Given the description of an element on the screen output the (x, y) to click on. 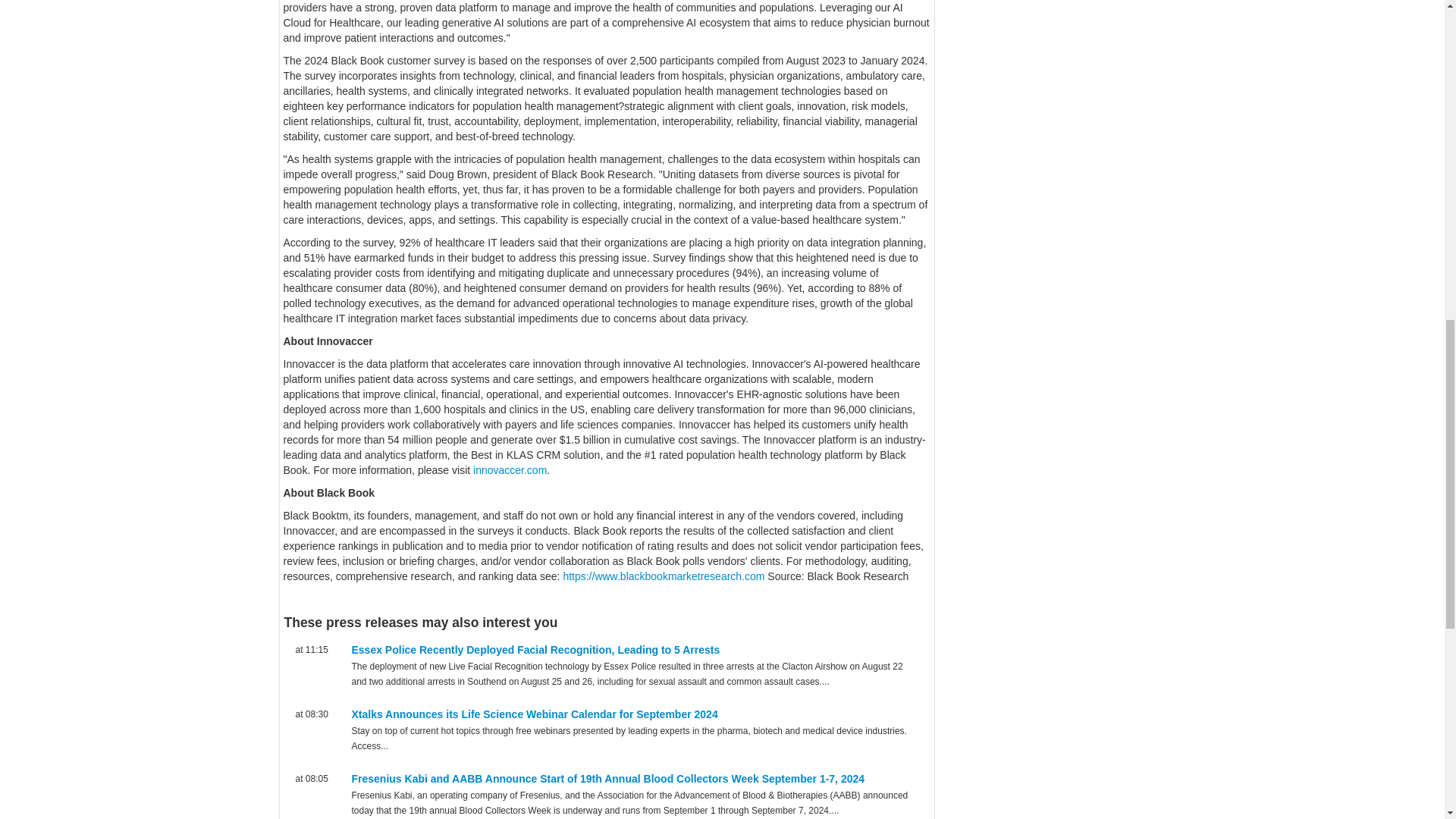
innovaccer.com (510, 469)
